Given the description of an element on the screen output the (x, y) to click on. 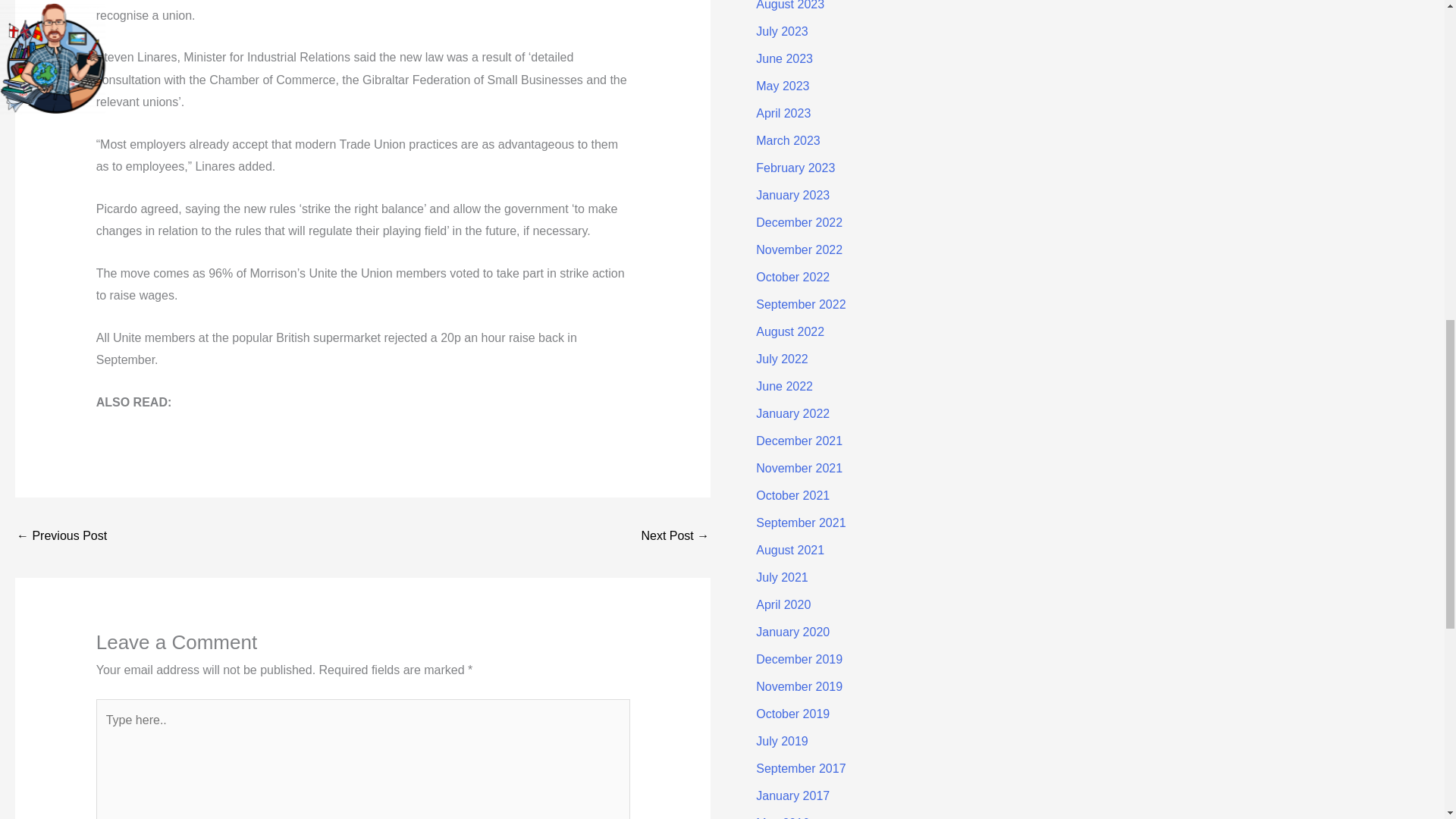
April 2023 (782, 113)
August 2023 (789, 5)
February 2023 (794, 167)
January 2023 (792, 195)
June 2023 (783, 58)
March 2023 (788, 140)
May 2023 (782, 85)
July 2023 (781, 31)
